Given the description of an element on the screen output the (x, y) to click on. 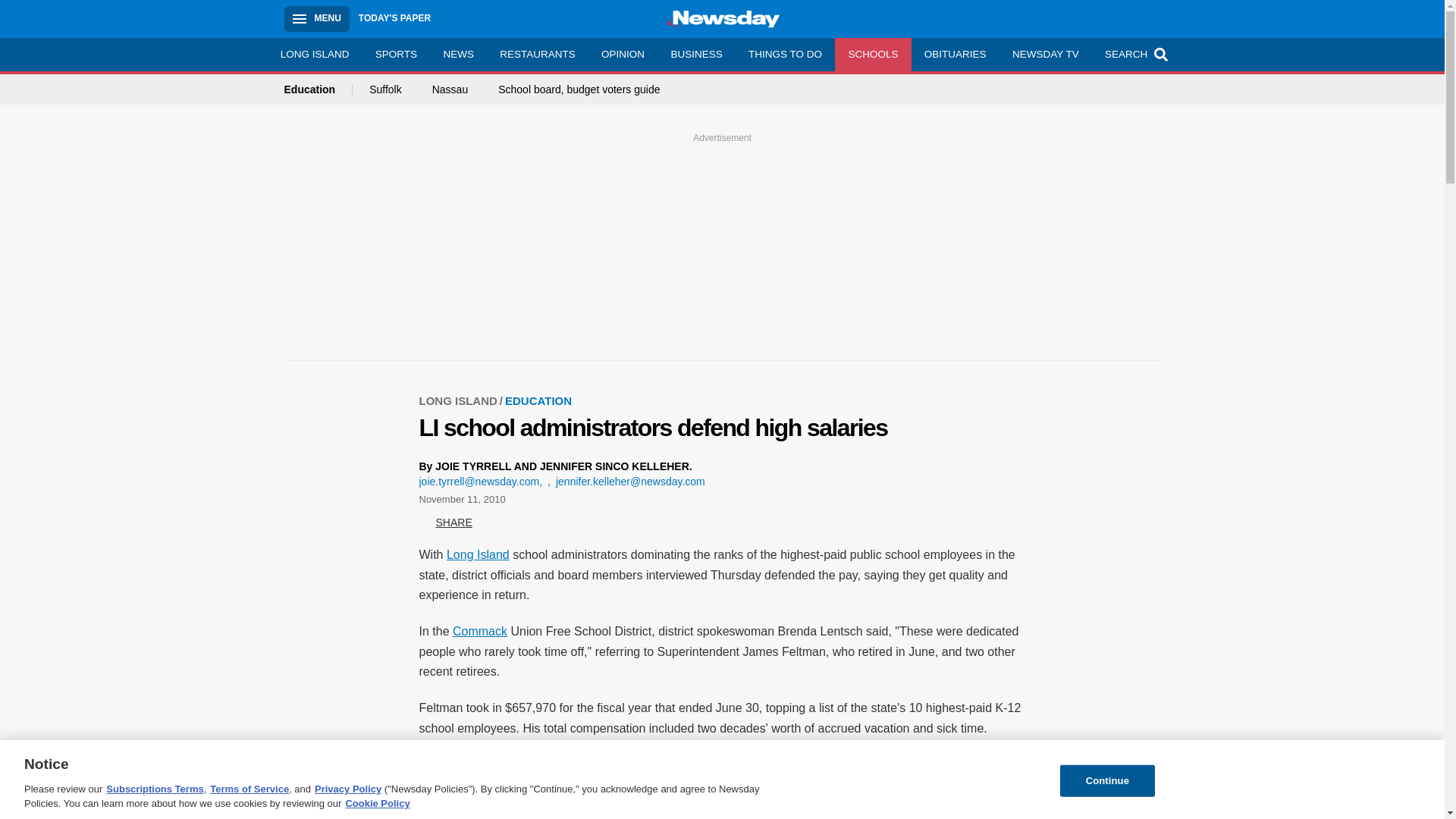
BUSINESS (696, 54)
LONG ISLAND (462, 400)
3rd party ad content (722, 806)
Nassau (449, 89)
MENU (316, 18)
RESTAURANTS (537, 54)
SEARCH (1134, 54)
OPINION (623, 54)
Long Island (477, 554)
LONG ISLAND (313, 54)
TODAY'S PAPER (394, 18)
Suffolk (385, 89)
School board, budget voters guide (578, 89)
NEWSDAY TV (1045, 54)
